Given the description of an element on the screen output the (x, y) to click on. 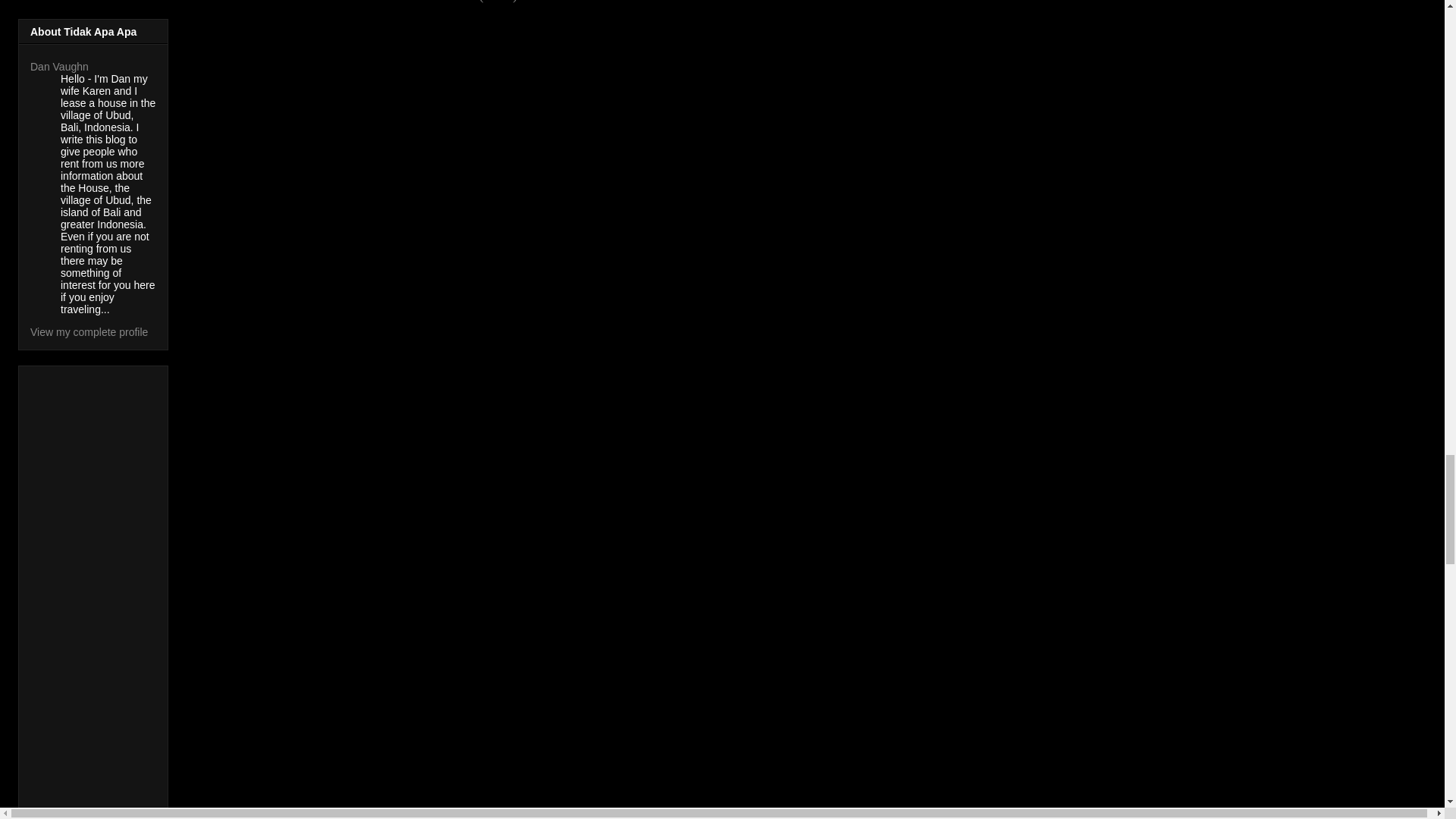
View my complete profile (89, 331)
Dan Vaughn (59, 66)
